Given the description of an element on the screen output the (x, y) to click on. 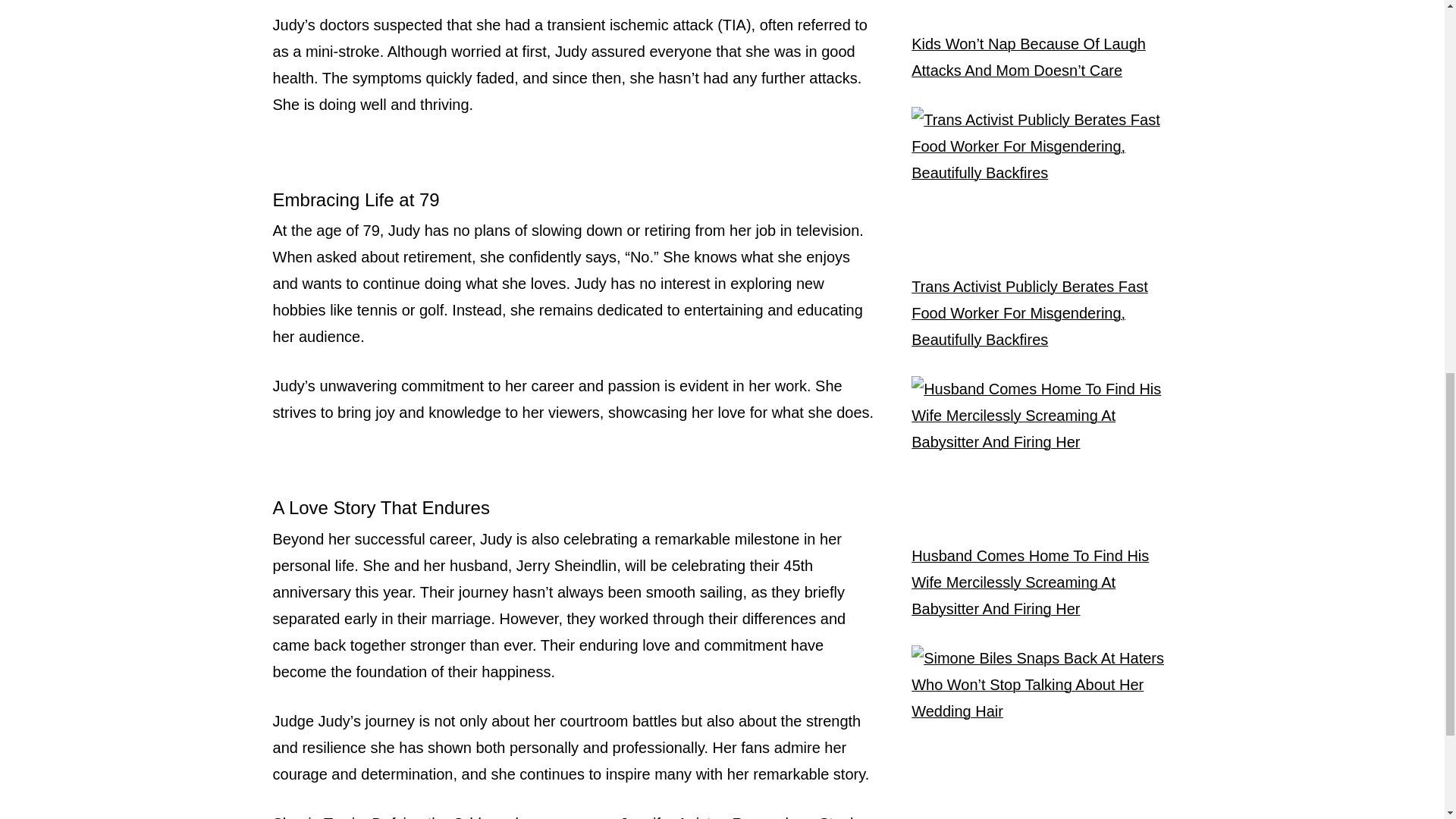
Shania Twain: Defying the Odds and Rising Strong (395, 816)
